Given the description of an element on the screen output the (x, y) to click on. 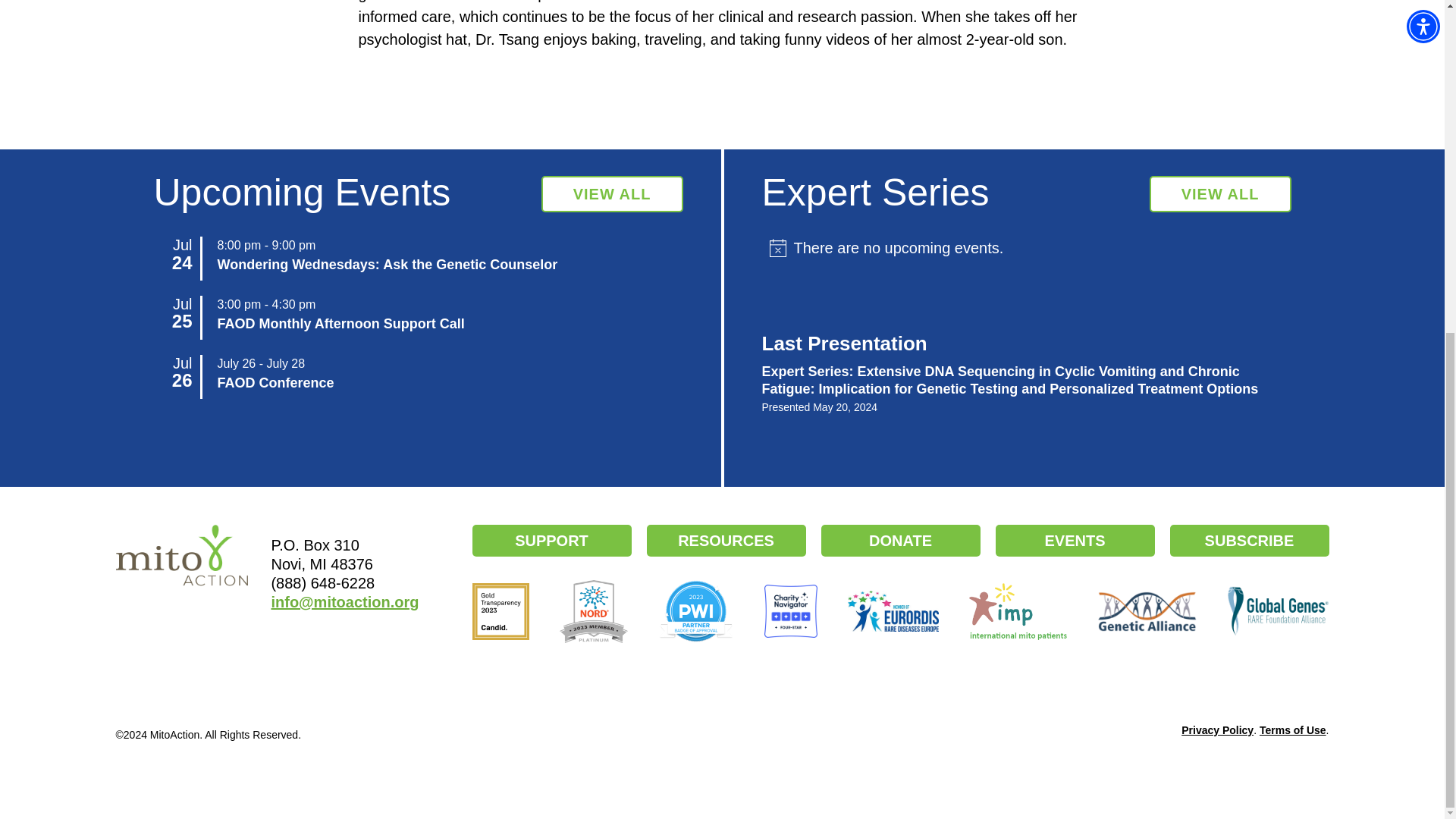
FAOD Conference (274, 382)
Upcoming Events (611, 194)
FAOD Monthly Afternoon Support Call (340, 323)
Wondering Wednesdays: Ask the Genetic Counselor (386, 264)
Upcoming Monthly Expert Series (1220, 194)
